Given the description of an element on the screen output the (x, y) to click on. 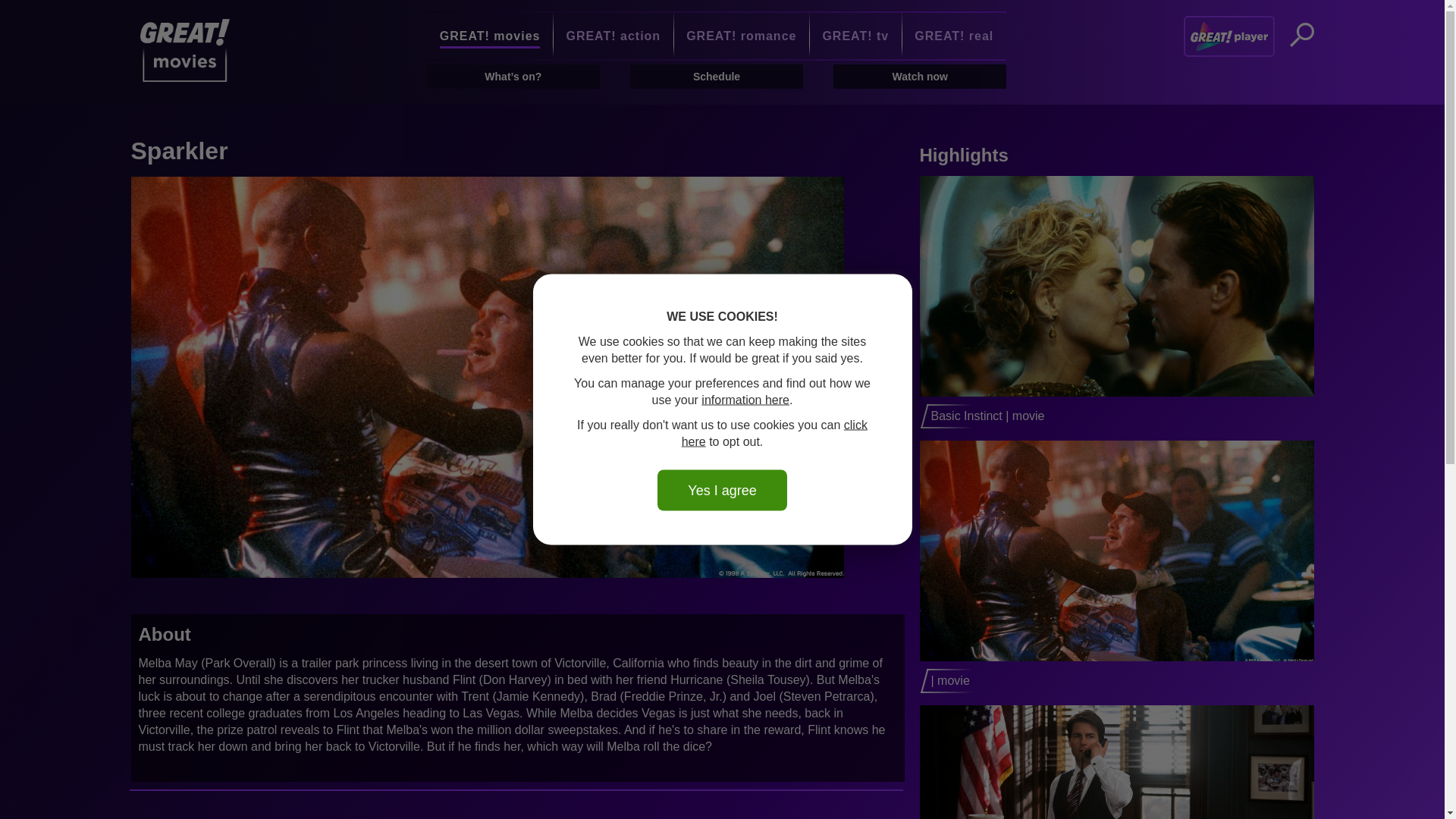
Watch now (919, 76)
GREAT! romance (741, 35)
GREAT! action (612, 35)
GREAT! movies (490, 35)
GREAT! real (954, 35)
Schedule (716, 76)
Lions for Lambs (1117, 762)
GREAT! tv (855, 35)
Basic Instinct (1117, 302)
